Given the description of an element on the screen output the (x, y) to click on. 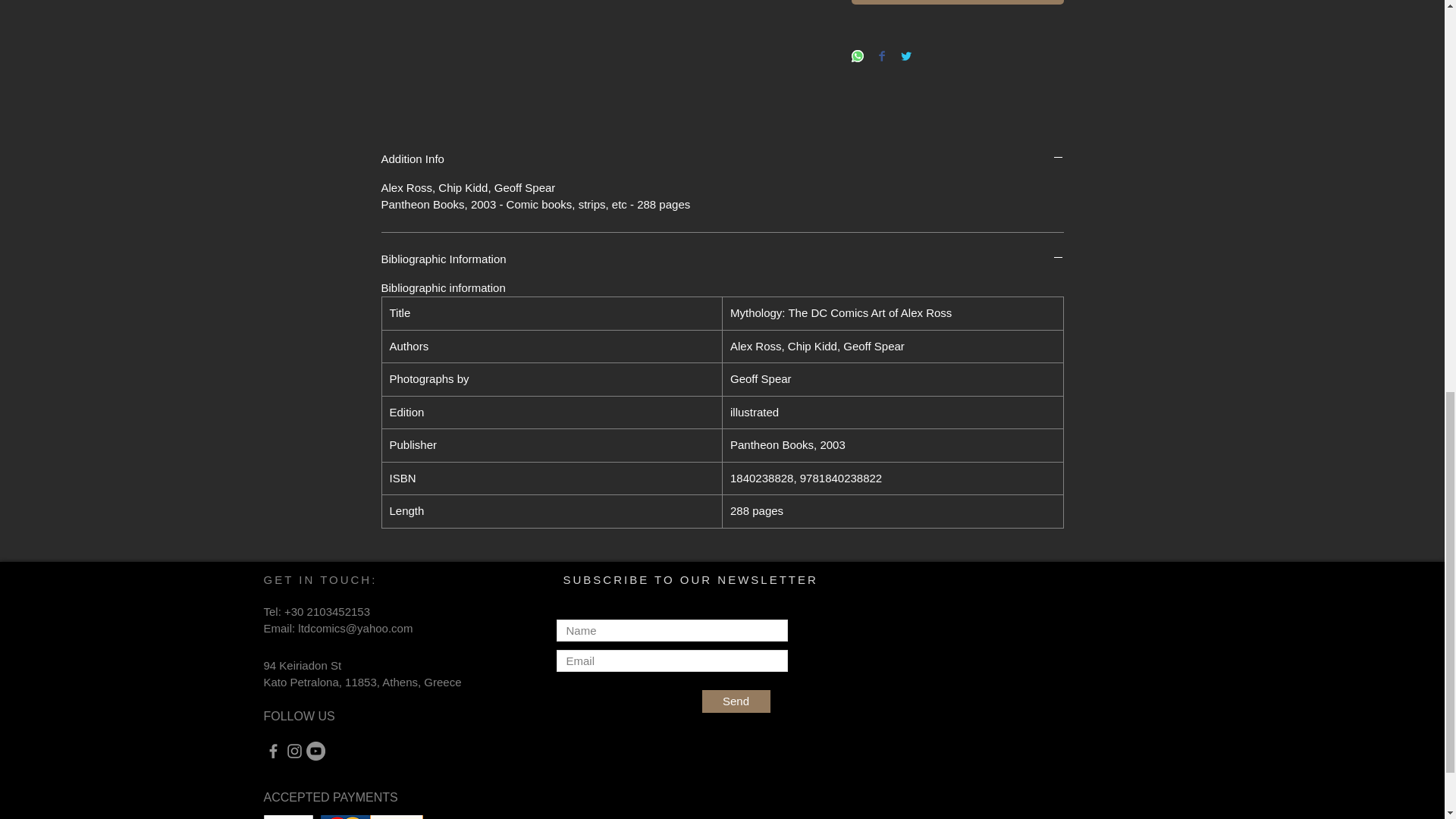
Addition Info (721, 158)
Bibliographic Information (721, 258)
Send (735, 701)
Add to Cart (956, 2)
